Given the description of an element on the screen output the (x, y) to click on. 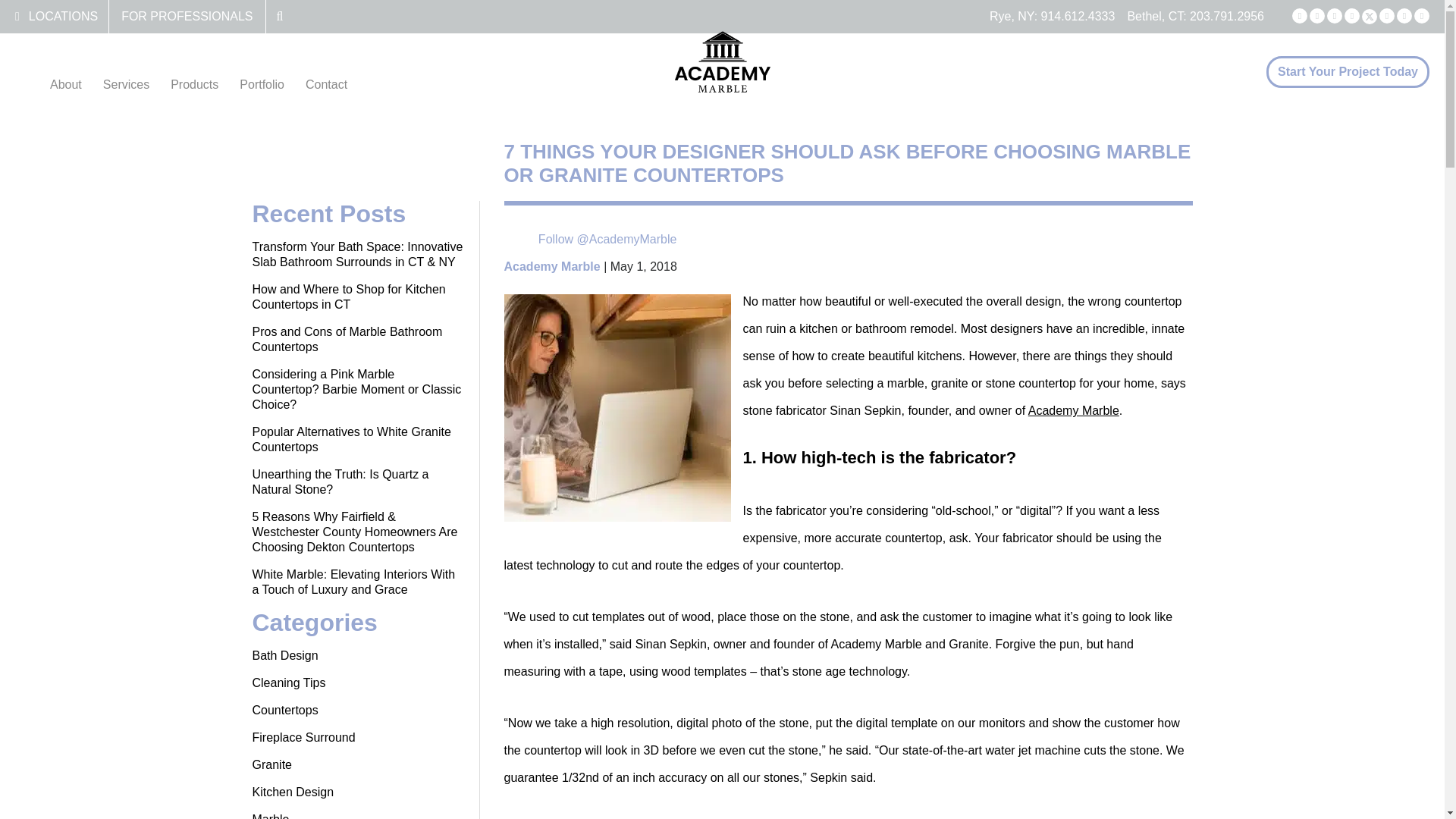
LOCATIONS (63, 15)
203.791.2956 (1226, 15)
914.612.4333 (1078, 15)
FOR PROFESSIONALS (185, 15)
